Given the description of an element on the screen output the (x, y) to click on. 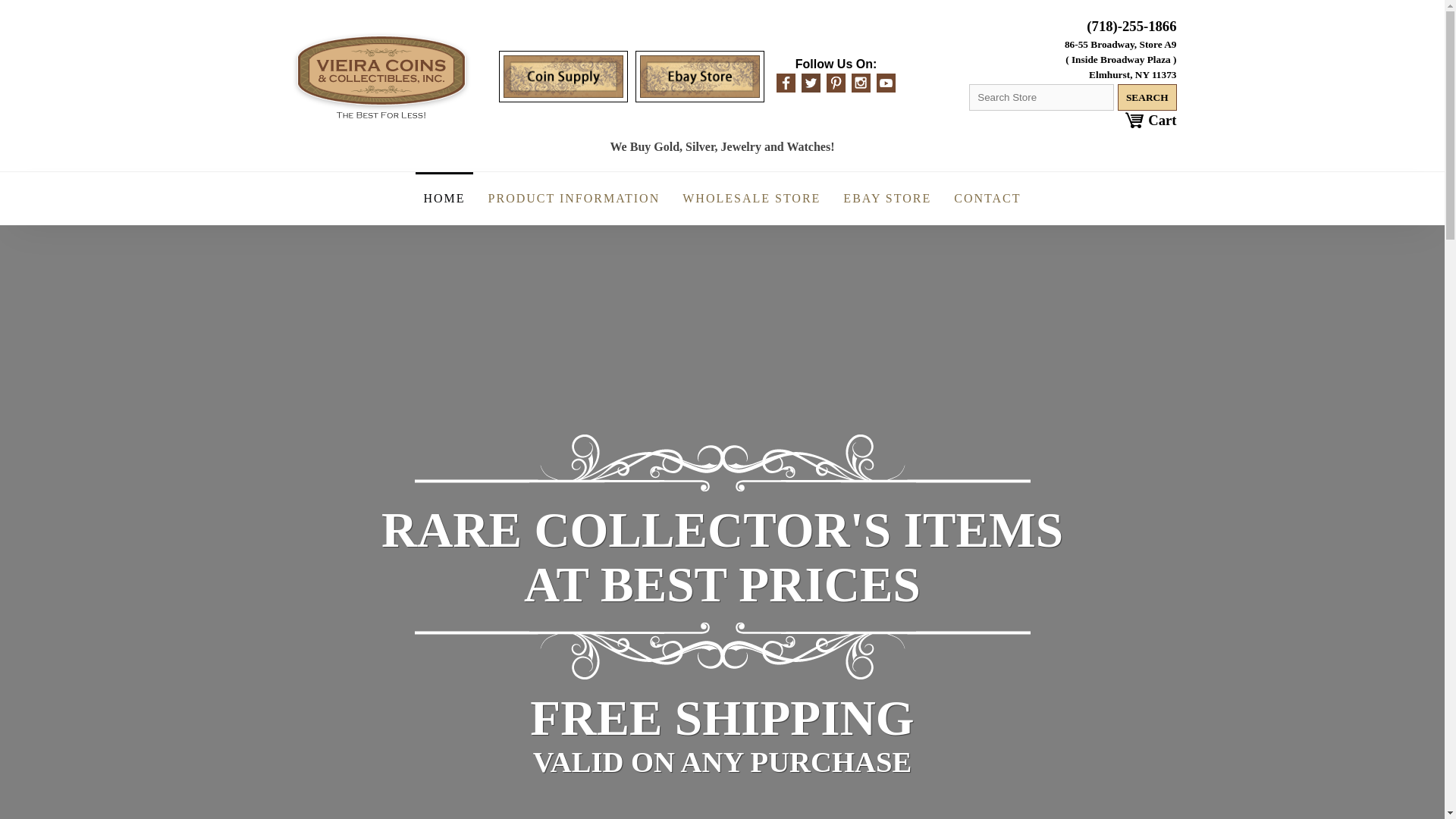
HOME (442, 198)
PRODUCT INFORMATION (574, 198)
WHOLESALE STORE (751, 198)
Twitter Icon (811, 82)
EBAY STORE (887, 198)
Border (721, 650)
Pinterest Icon (836, 82)
Search (1147, 97)
Search (1147, 97)
Instagram Icon (860, 82)
